Given the description of an element on the screen output the (x, y) to click on. 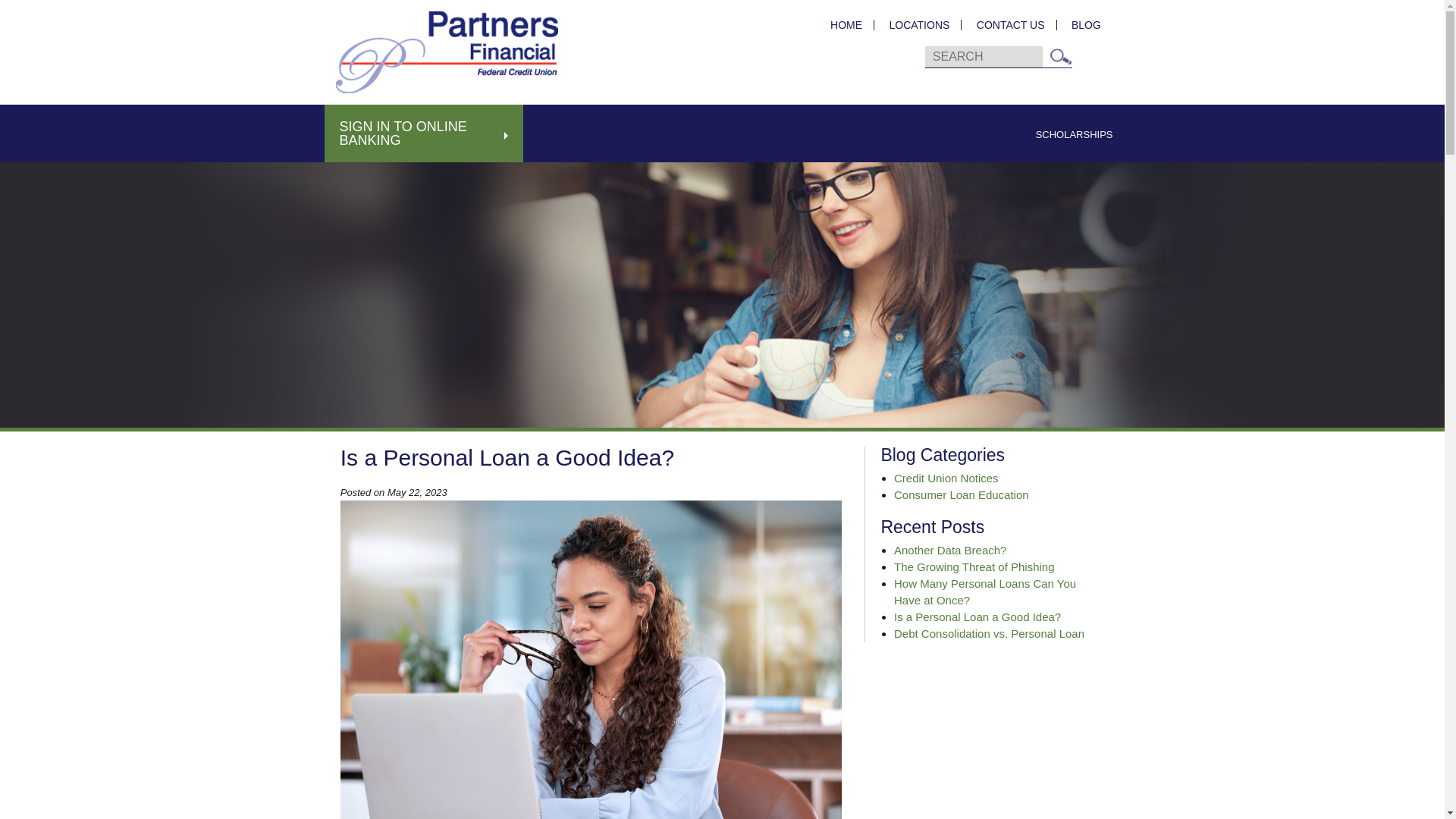
Debt Consolidation vs. Personal Loan (988, 633)
Credit Union Notices (945, 477)
The Growing Threat of Phishing (973, 566)
Is a Personal Loan a Good Idea? (977, 616)
Search (1059, 56)
SIGN IN TO ONLINE BANKING (424, 133)
LOCATIONS (918, 24)
BLOG (1079, 24)
CONTACT US (1011, 24)
Search (1059, 56)
Another Data Breach? (949, 549)
SCHOLARSHIPS (1074, 134)
HOME (845, 24)
Consumer Loan Education (961, 494)
How Many Personal Loans Can You Have at Once? (984, 591)
